Given the description of an element on the screen output the (x, y) to click on. 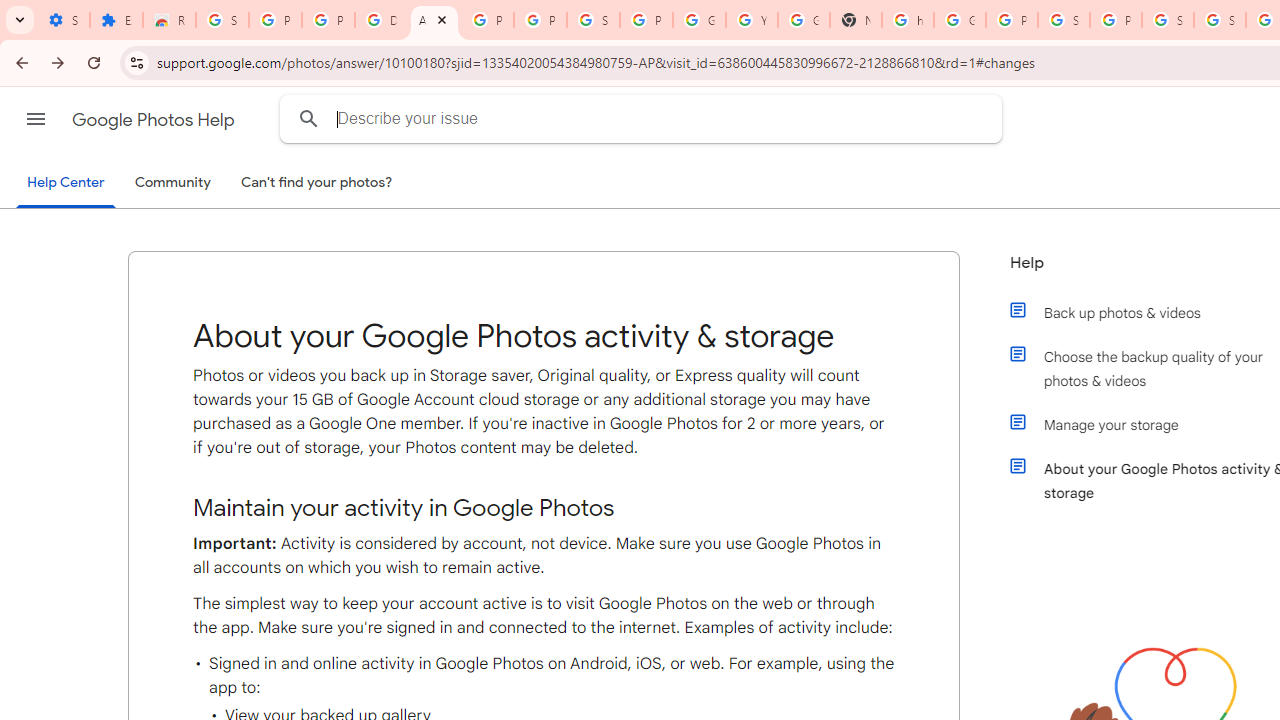
Sign in - Google Accounts (222, 20)
Delete photos & videos - Computer - Google Photos Help (381, 20)
Google Account (699, 20)
Community (171, 183)
https://scholar.google.com/ (907, 20)
